Given the description of an element on the screen output the (x, y) to click on. 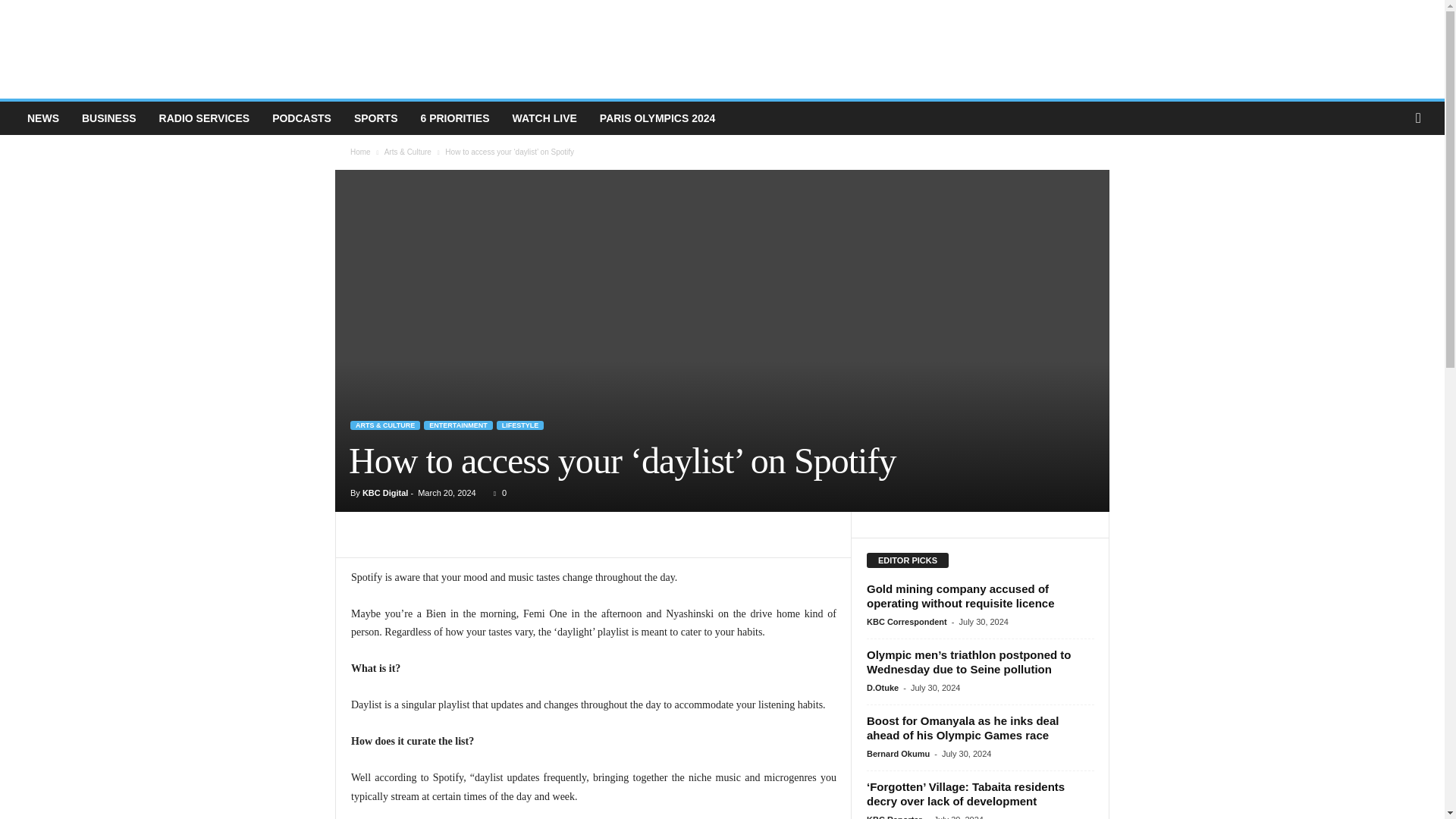
KBC (437, 48)
NEWS (42, 118)
